Given the description of an element on the screen output the (x, y) to click on. 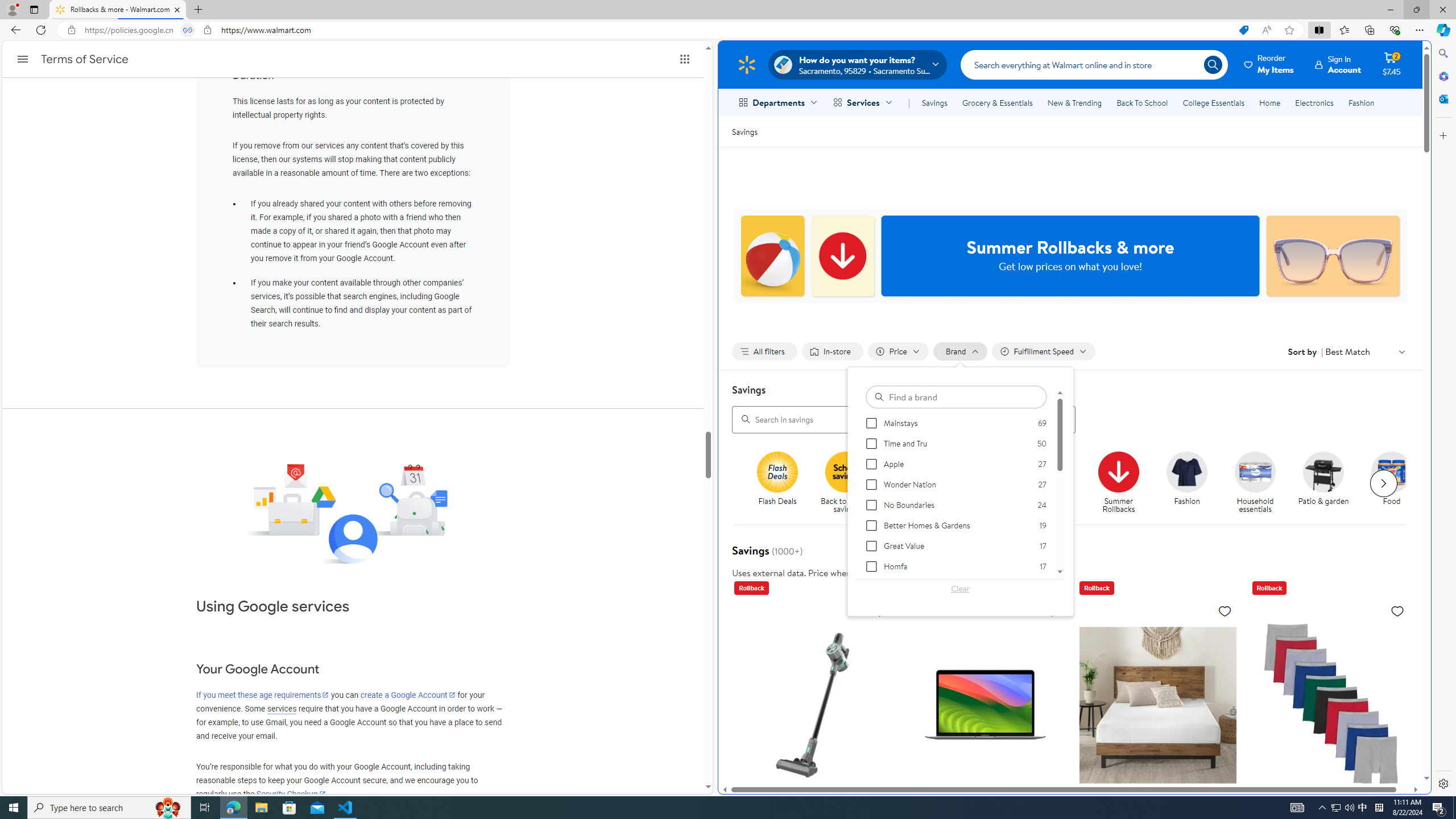
$20 & under (986, 483)
Back to College savings Back to college savings (913, 483)
Household essentials (1254, 471)
Get it today Get it today (1050, 478)
Side bar (1443, 418)
Patio & garden Patio & garden (1323, 478)
Flash deals Flash Deals (777, 478)
Cart contains 2 items Total Amount $7.45 (1391, 64)
Get it today (1054, 483)
All filters none applied, activate to change (764, 351)
Hanes Men's Super Value Pack Assorted Boxer Briefs, 10 Pack (1330, 704)
App bar (728, 29)
